Given the description of an element on the screen output the (x, y) to click on. 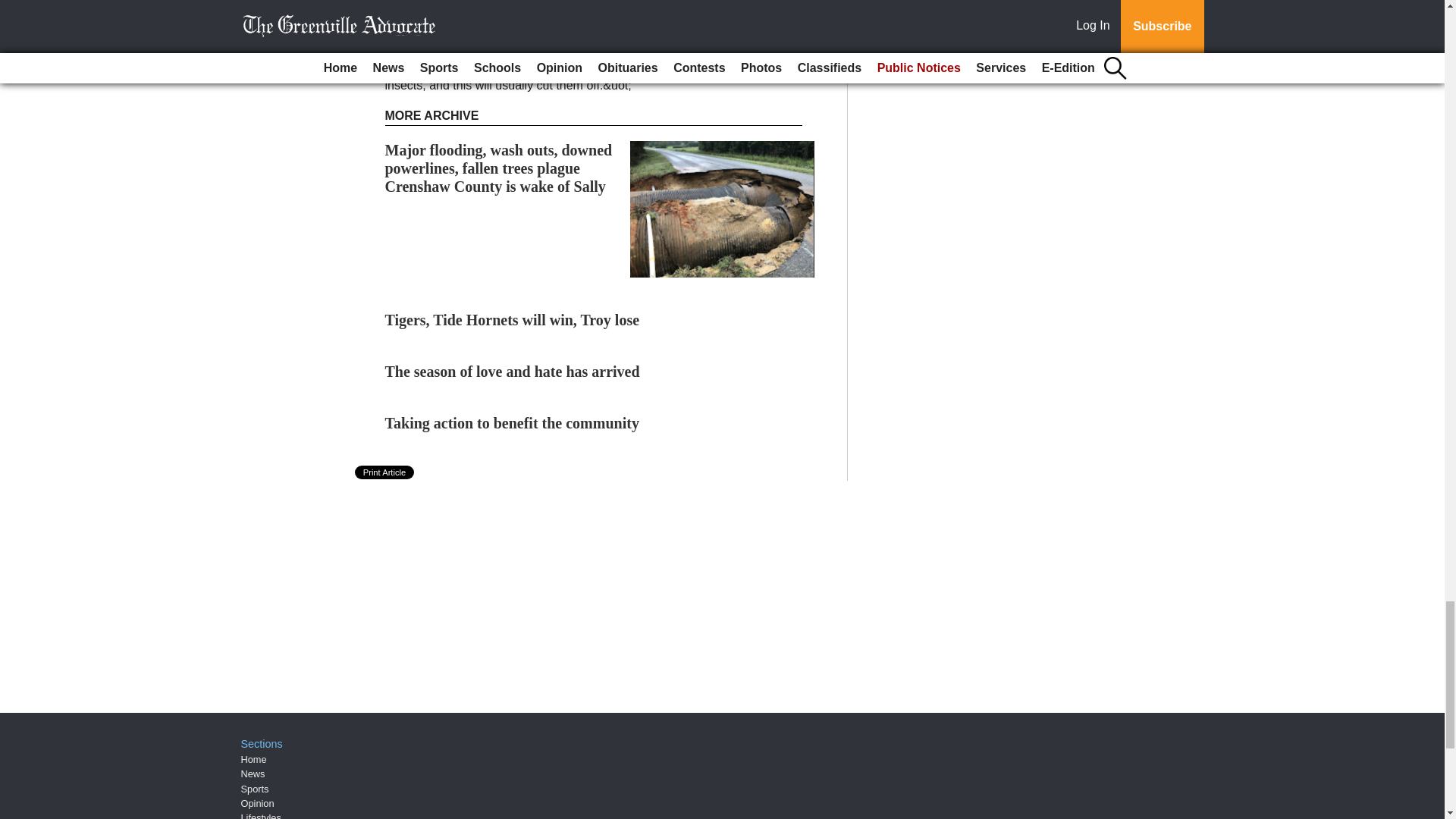
Tigers, Tide Hornets will win, Troy lose (512, 320)
The season of love and hate has arrived (512, 371)
Print Article (384, 472)
Taking action to benefit the community (512, 422)
The season of love and hate has arrived (512, 371)
Taking action to benefit the community (512, 422)
Tigers, Tide Hornets will win, Troy lose (512, 320)
